Given the description of an element on the screen output the (x, y) to click on. 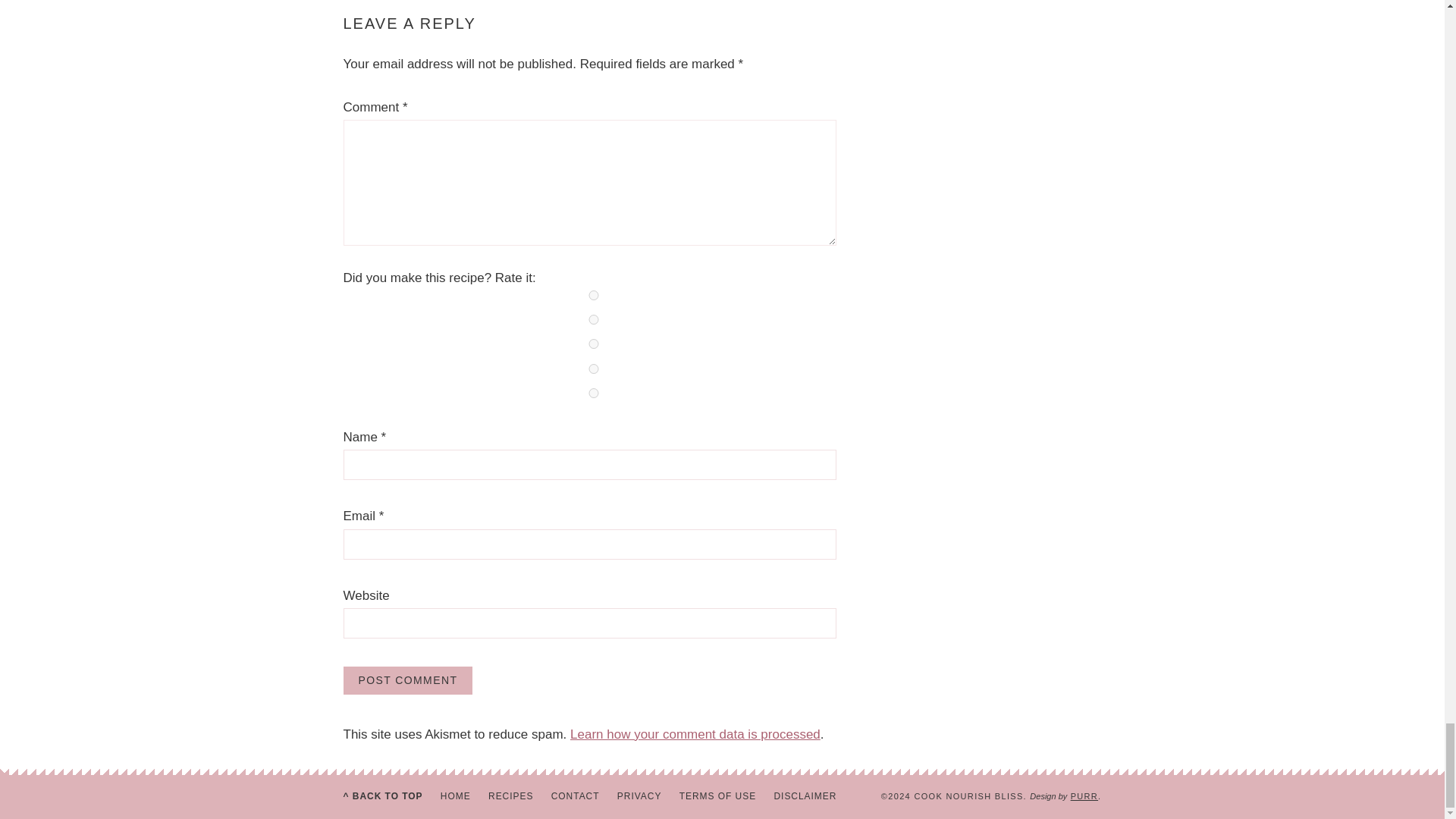
5 (593, 393)
Learn how your comment data is processed (695, 734)
1 (593, 295)
Post Comment (406, 680)
Post Comment (406, 680)
3 (593, 343)
2 (593, 319)
4 (593, 368)
